Given the description of an element on the screen output the (x, y) to click on. 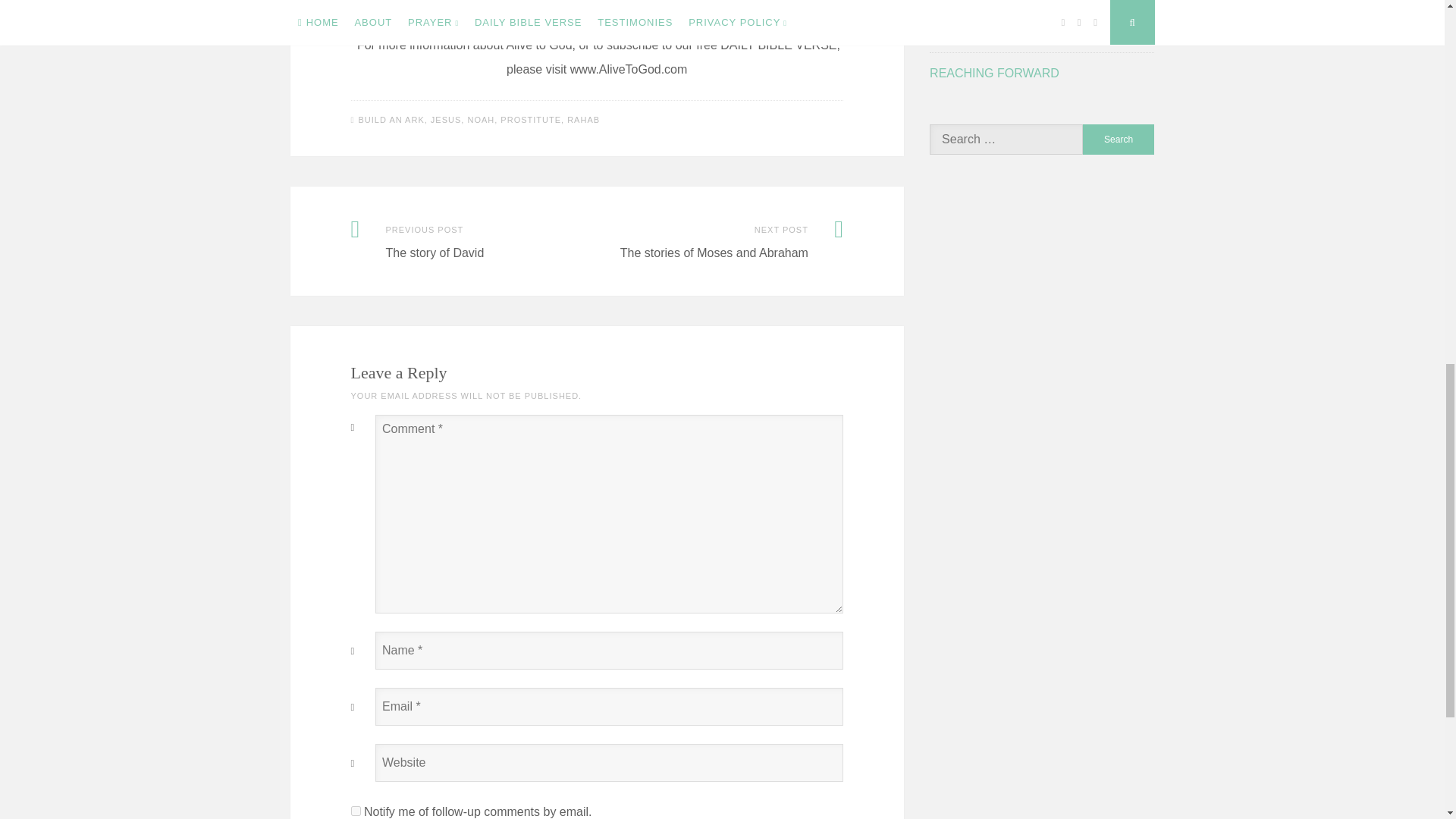
PROSTITUTE (530, 119)
NOAH (481, 119)
Search (1118, 139)
subscribe (354, 810)
Search (1118, 139)
Search (1118, 139)
RAHAB (583, 119)
JESUS (445, 119)
REACHING FORWARD (994, 72)
BUILD AN ARK (391, 119)
